Given the description of an element on the screen output the (x, y) to click on. 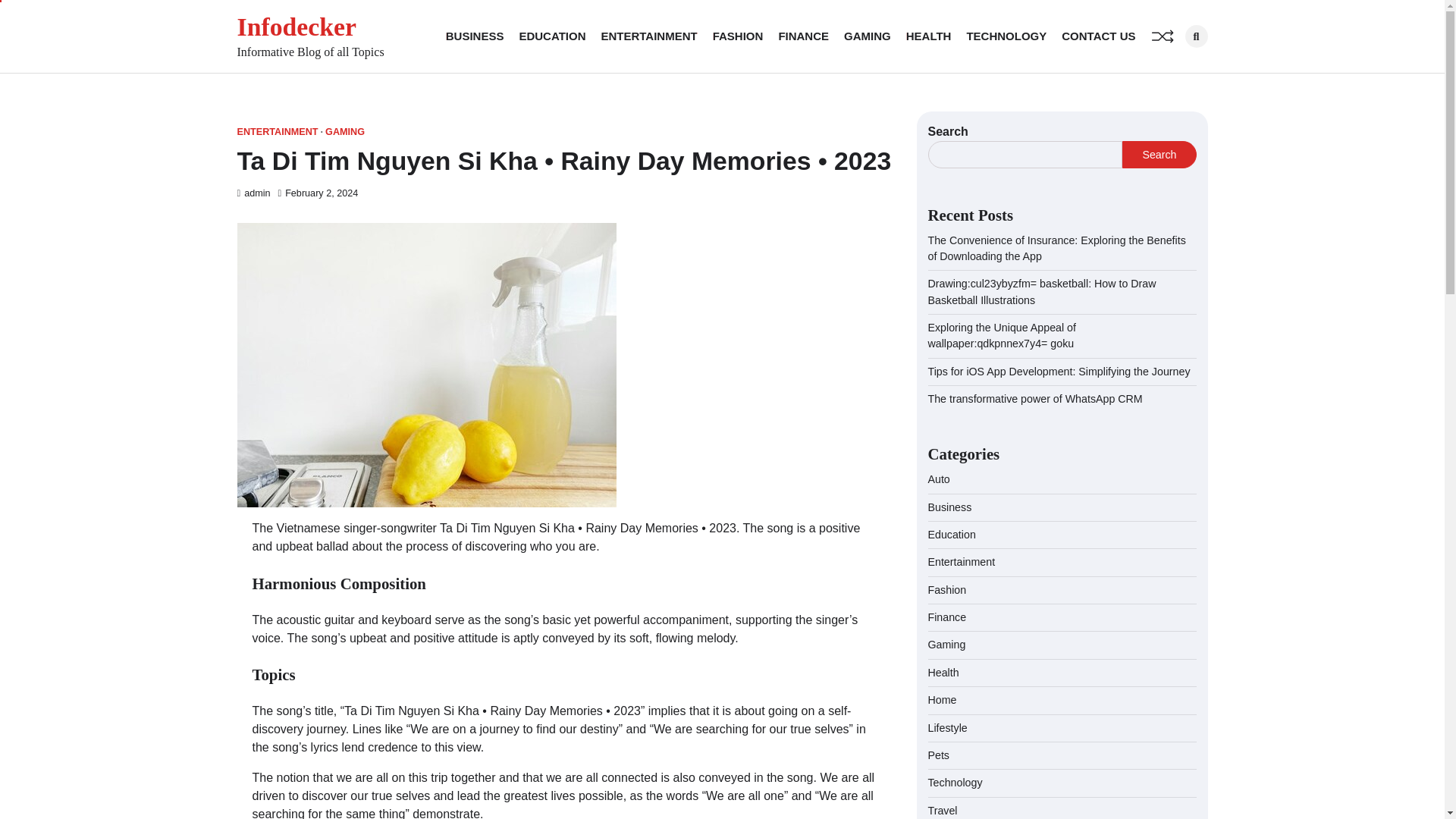
Health (943, 672)
BUSINESS (474, 35)
Search (1158, 154)
GAMING (867, 35)
Tips for iOS App Development: Simplifying the Journey (1059, 371)
Finance (947, 616)
TECHNOLOGY (1006, 35)
The transformative power of WhatsApp CRM (1035, 398)
Gaming (947, 644)
Infodecker (295, 26)
EDUCATION (551, 35)
Business (950, 507)
February 2, 2024 (318, 193)
CONTACT US (1098, 35)
HEALTH (928, 35)
